Given the description of an element on the screen output the (x, y) to click on. 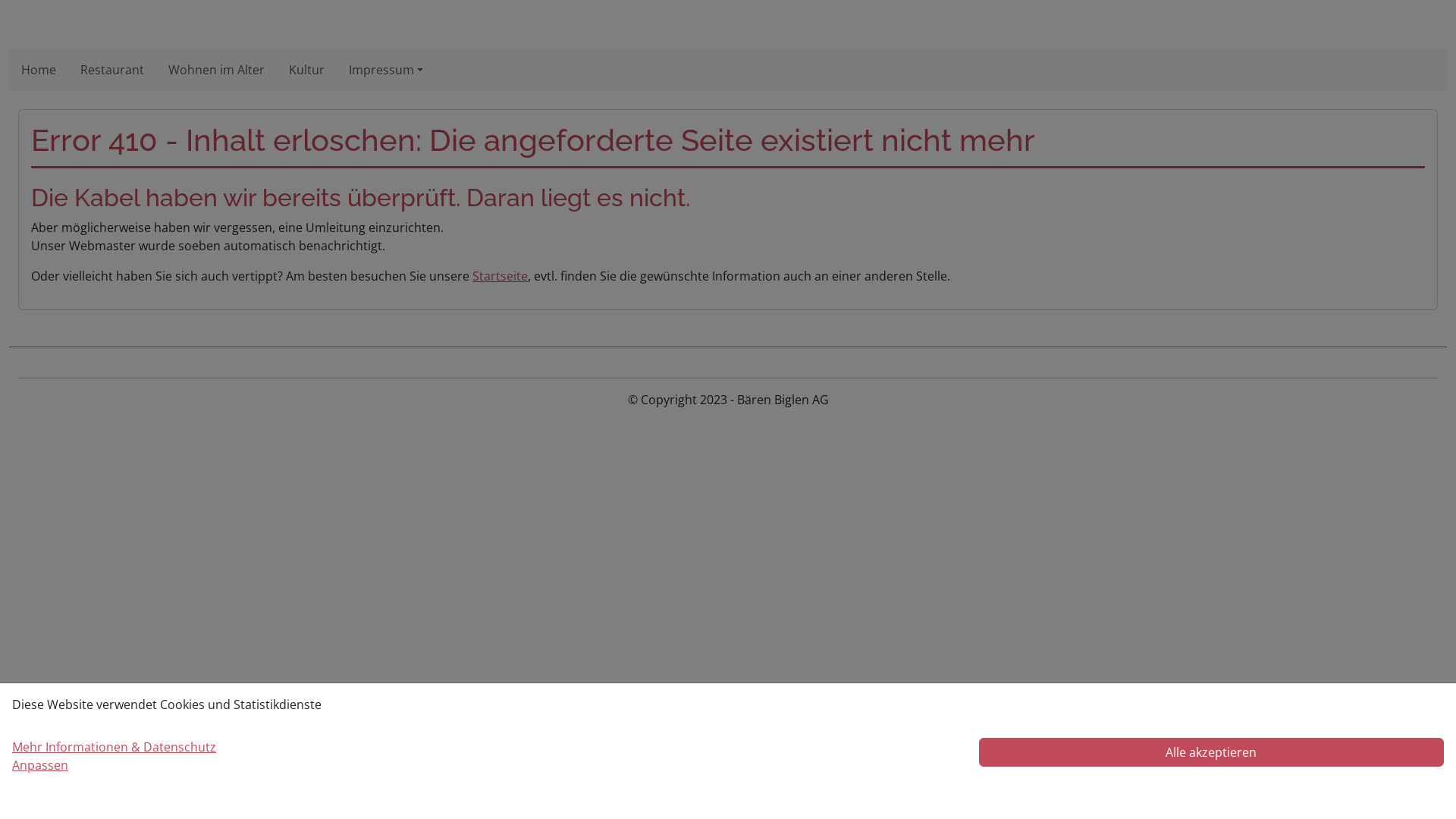
Home Element type: text (38, 69)
Alle akzeptieren Element type: text (1211, 751)
Mehr Informationen & Datenschutz Element type: text (114, 746)
Impressum Element type: text (385, 69)
Restaurant Element type: text (112, 69)
Wohnen im Alter Element type: text (216, 69)
Kultur Element type: text (306, 69)
Anpassen Element type: text (40, 764)
Startseite Element type: text (499, 275)
